Given the description of an element on the screen output the (x, y) to click on. 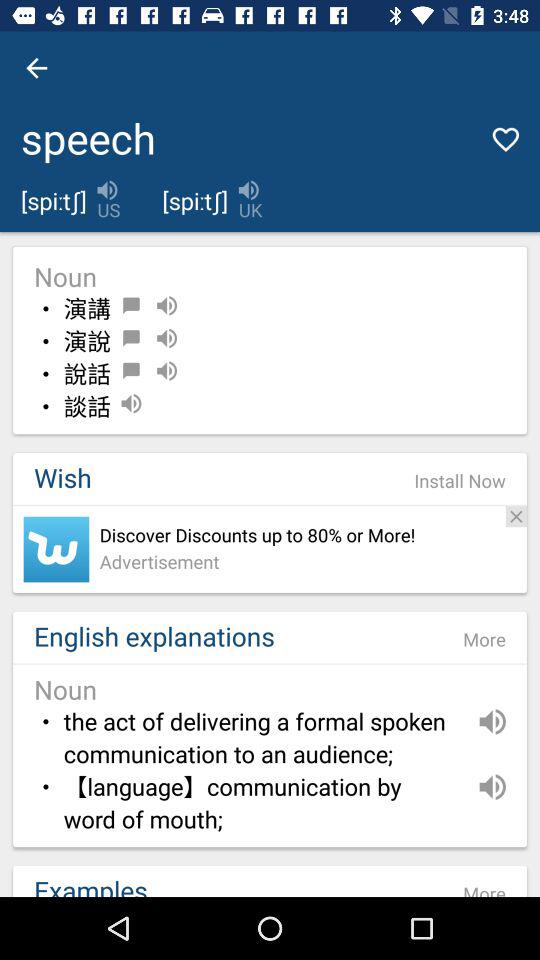
select the item below the the act of (260, 803)
